Given the description of an element on the screen output the (x, y) to click on. 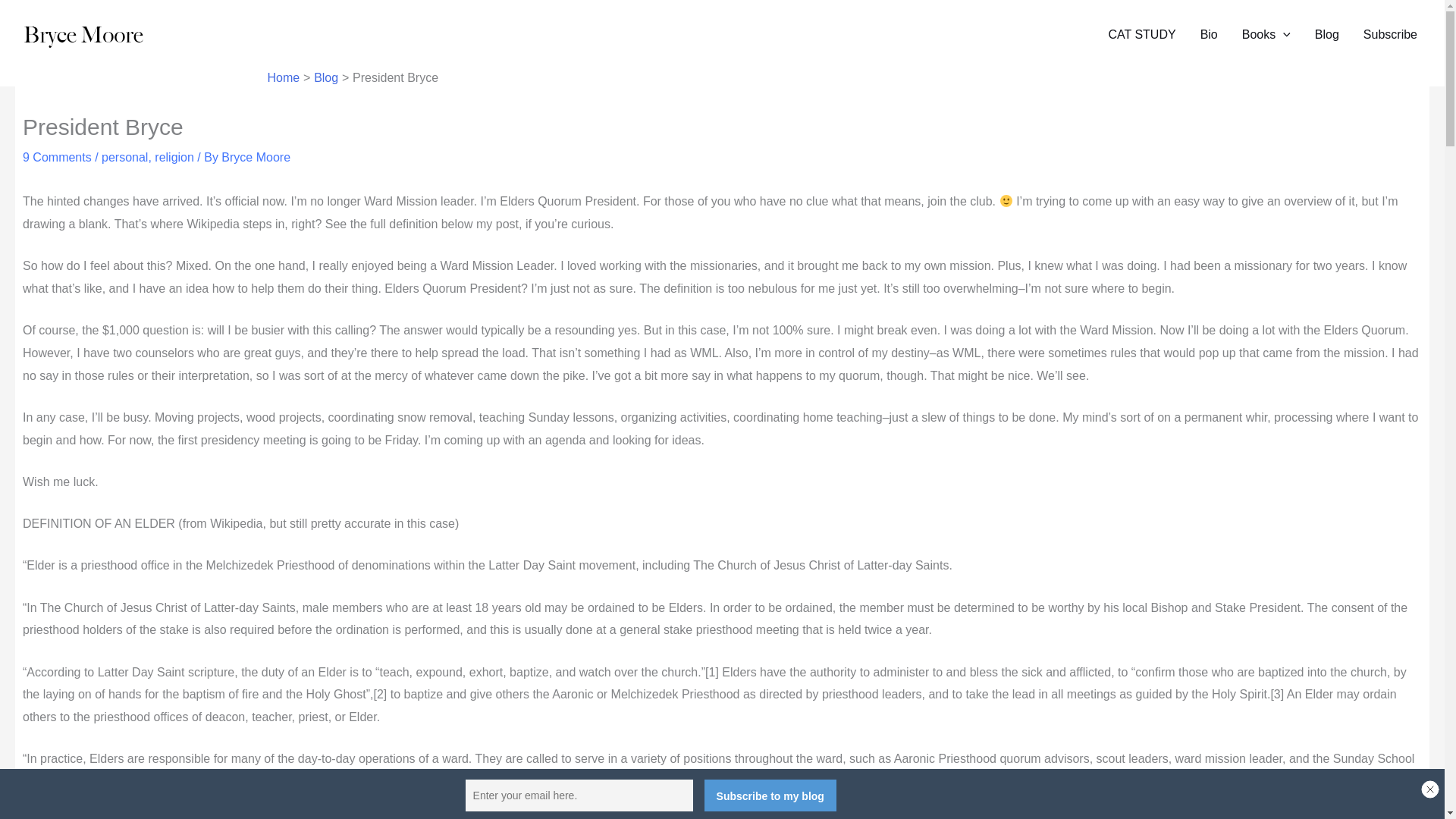
CAT STUDY (1142, 34)
Blog (1327, 34)
religion (173, 156)
Bryce Moore (255, 156)
Books (1266, 34)
Subscribe (1390, 34)
Blog (325, 77)
9 Comments (57, 156)
View all posts by Bryce Moore (255, 156)
personal (124, 156)
